Given the description of an element on the screen output the (x, y) to click on. 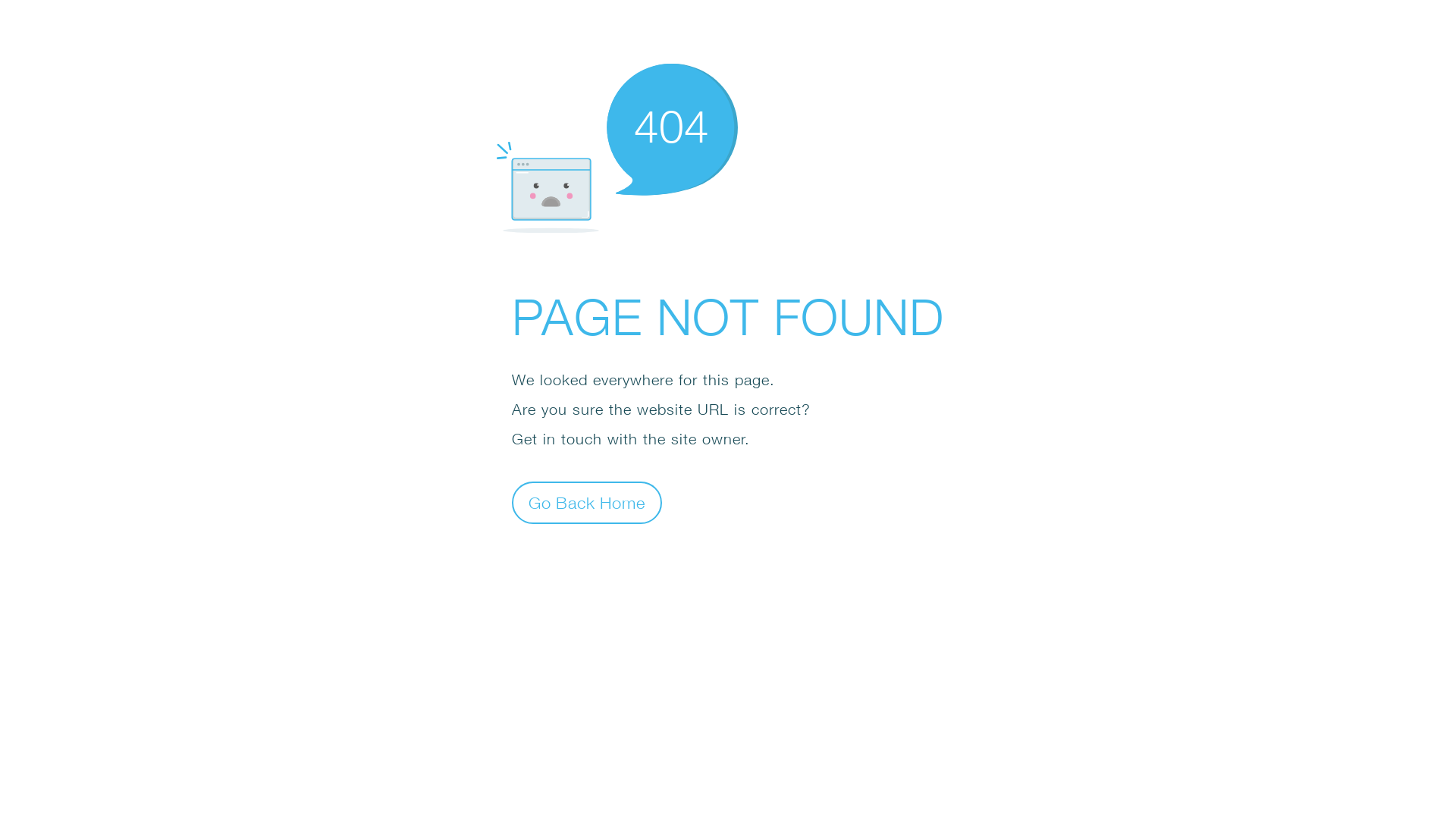
Go Back Home Element type: text (586, 502)
